Given the description of an element on the screen output the (x, y) to click on. 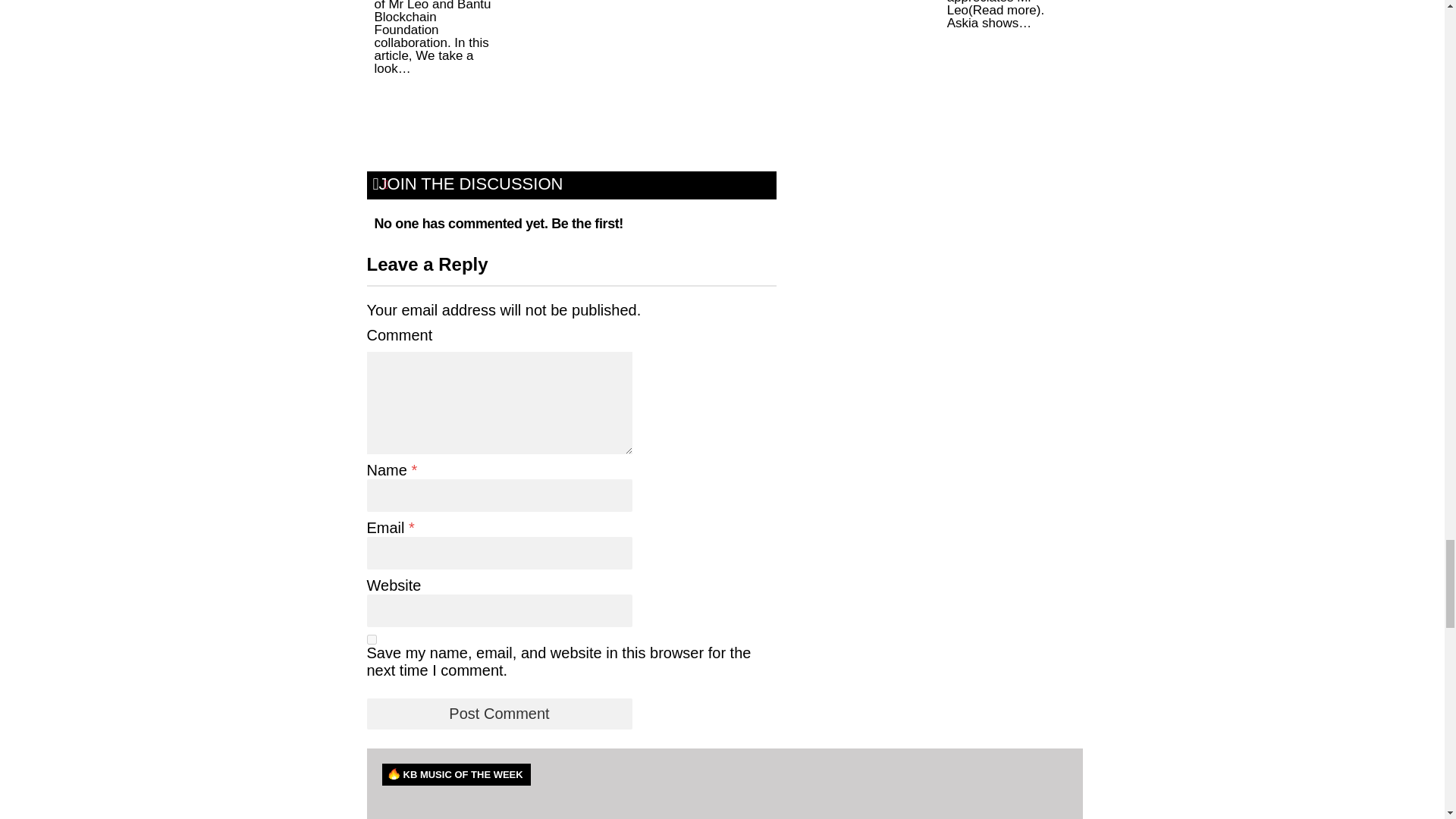
yes (371, 639)
Post Comment (498, 713)
